Given the description of an element on the screen output the (x, y) to click on. 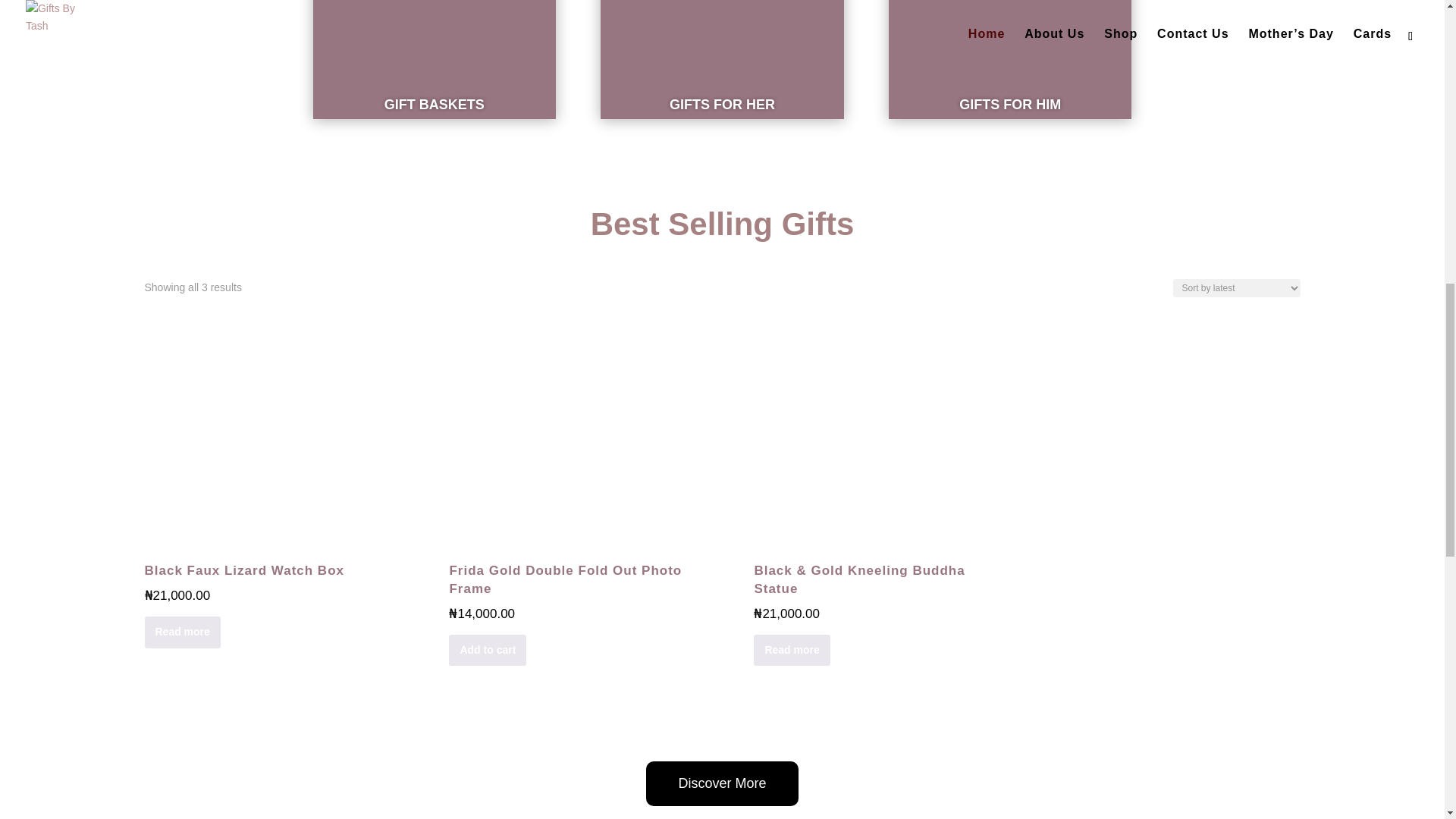
GIFTS FOR HIM (1010, 104)
Read more (181, 631)
Add to cart (486, 649)
Discover More (721, 783)
GIFTS FOR HER (721, 104)
Read more (791, 649)
